Given the description of an element on the screen output the (x, y) to click on. 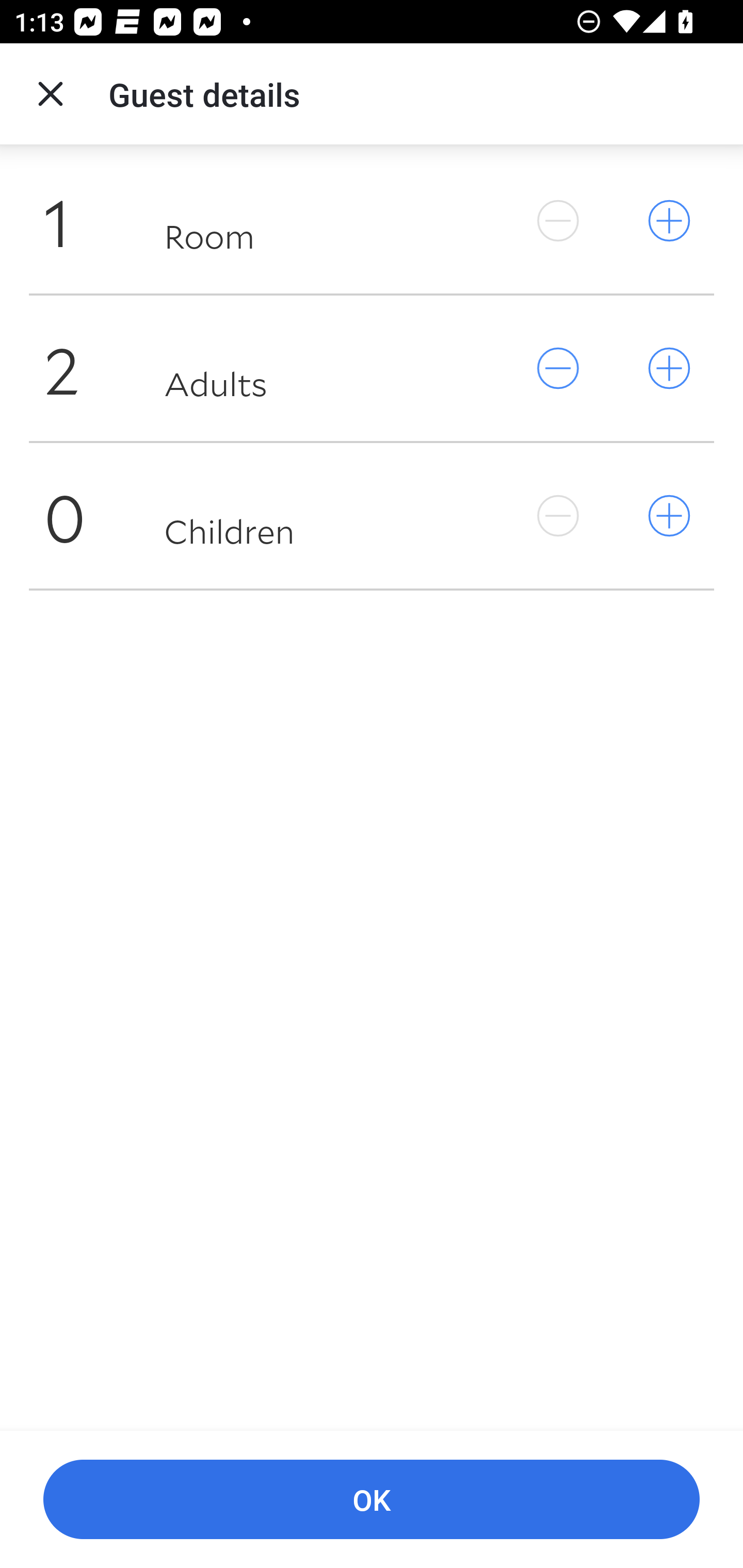
OK (371, 1499)
